Given the description of an element on the screen output the (x, y) to click on. 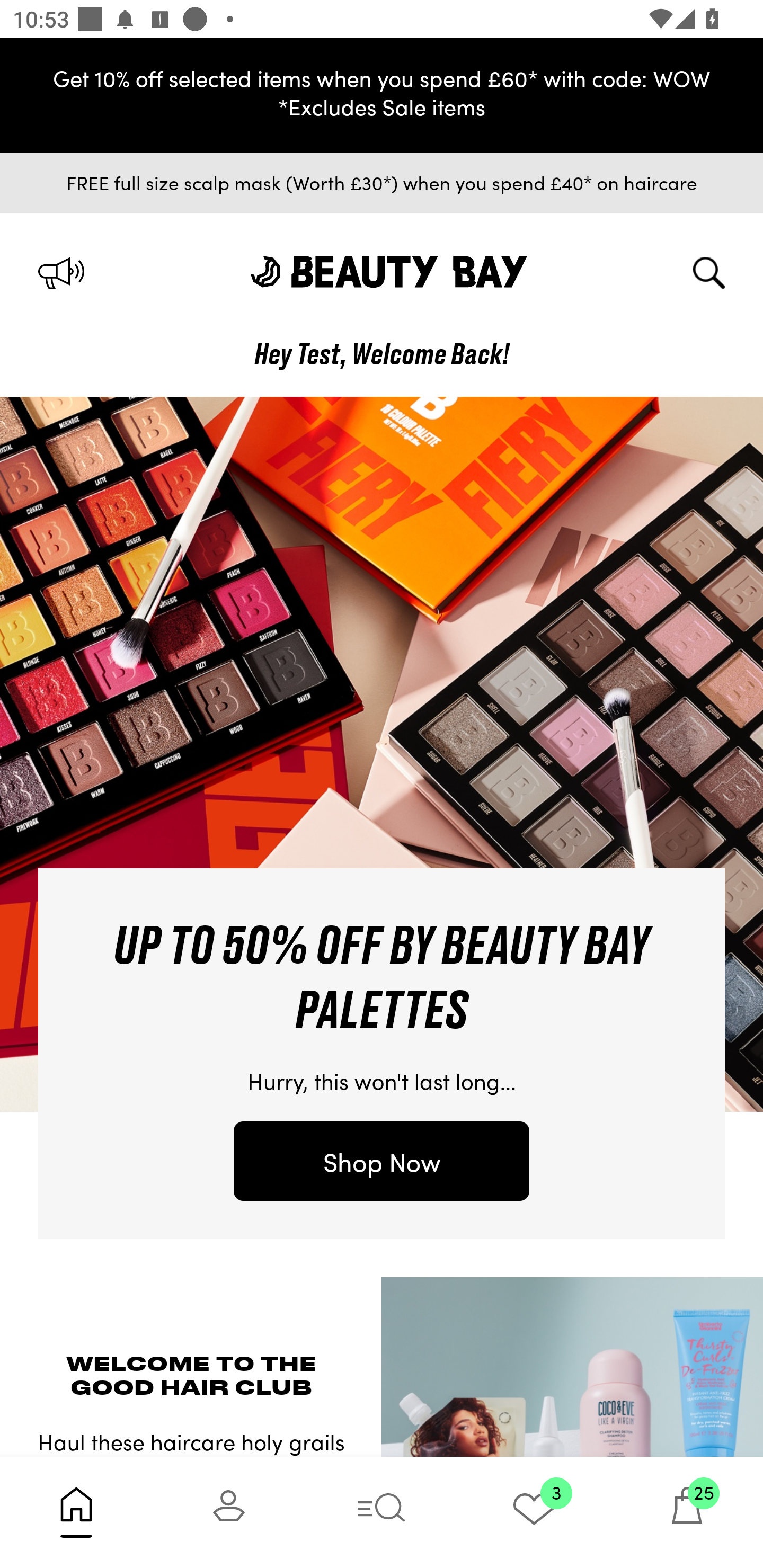
3 (533, 1512)
25 (686, 1512)
